Given the description of an element on the screen output the (x, y) to click on. 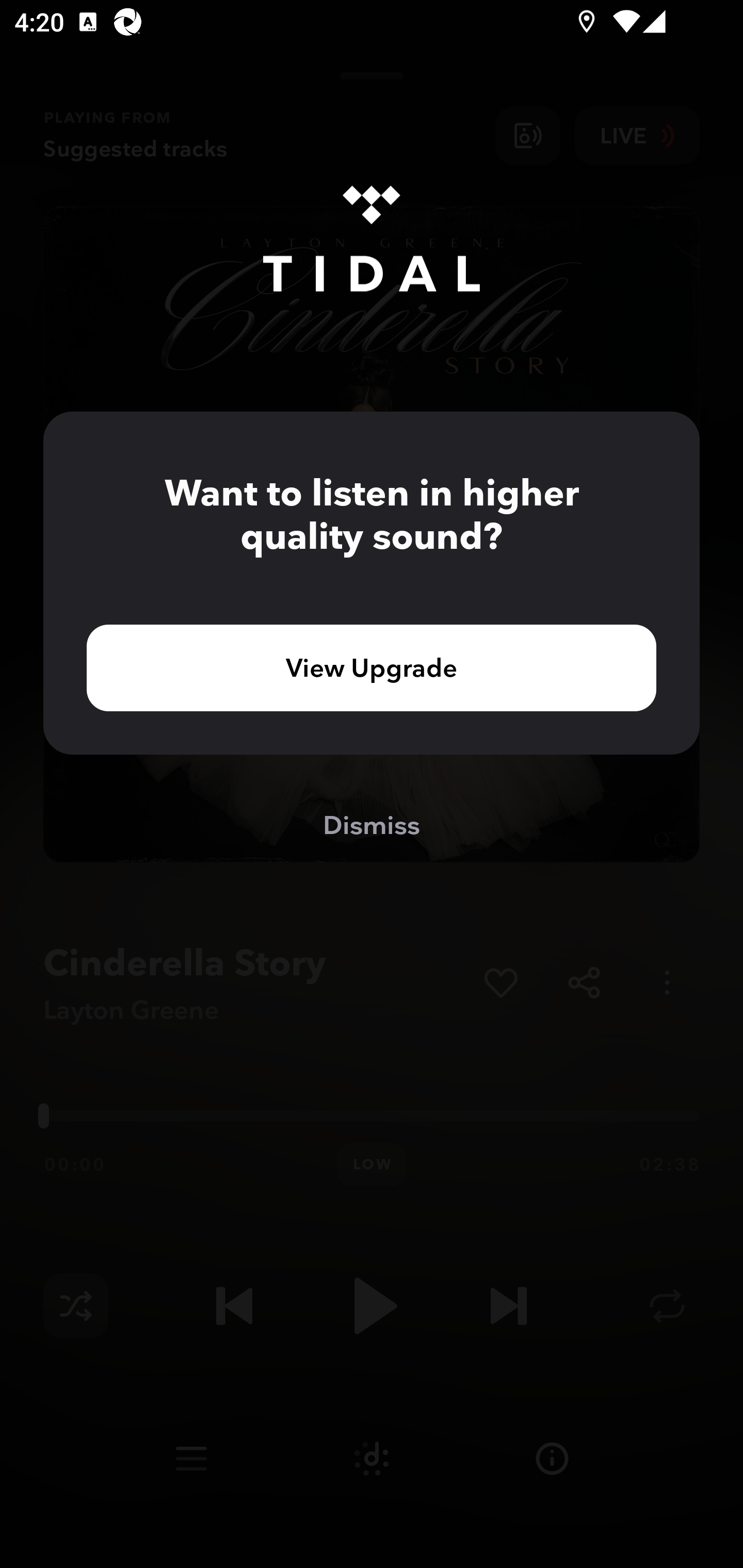
View Upgrade (371, 667)
Dismiss (371, 824)
